Given the description of an element on the screen output the (x, y) to click on. 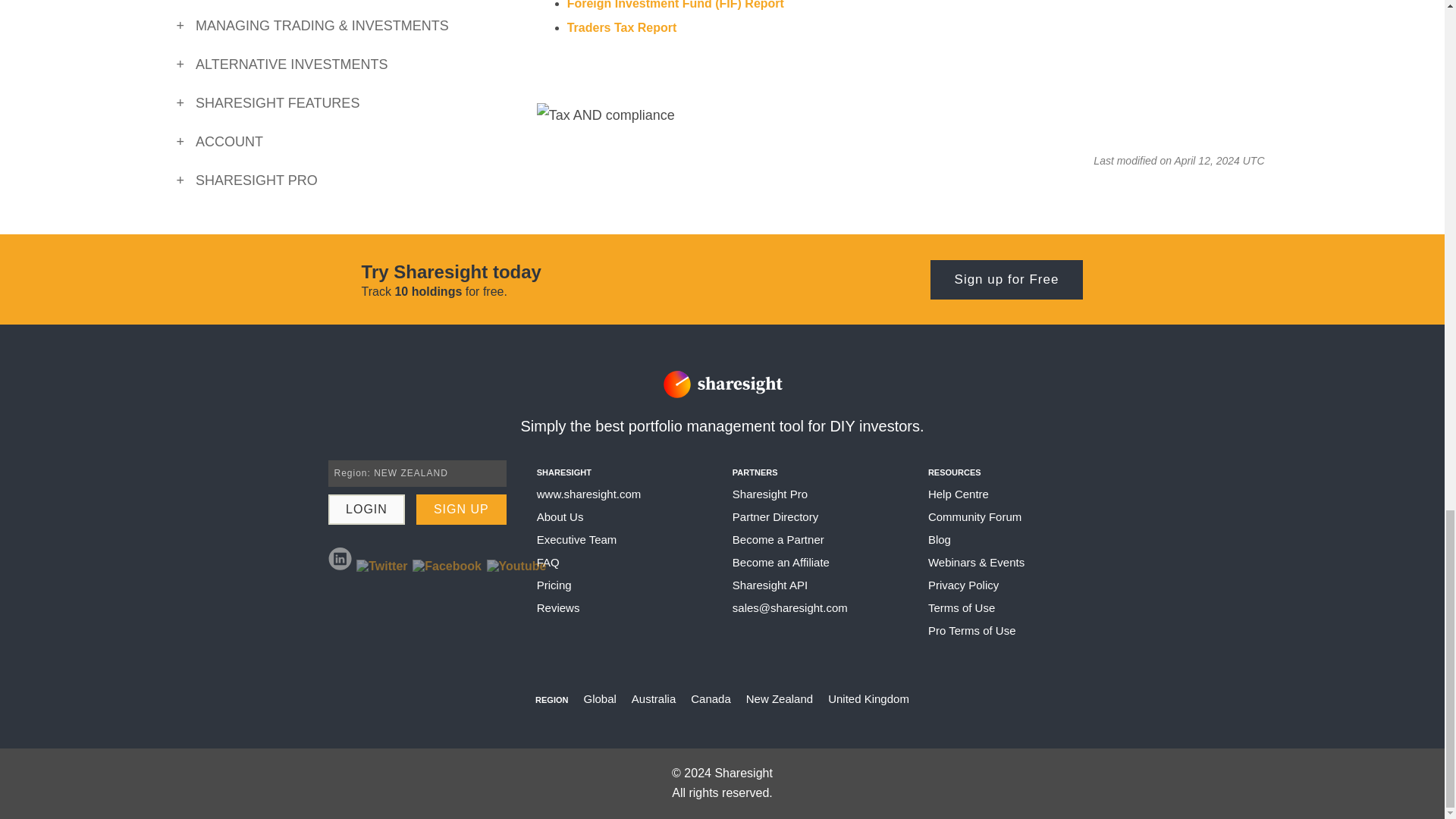
Sign up for Sharesight (461, 509)
Check us out on Facebook (446, 570)
Sharesight New Zealand Help (589, 493)
Check us out on LinkedIn (340, 558)
Login to Sharesight (366, 509)
Sign up for Sharesight (1006, 278)
Check us out on Youtube (516, 570)
Check us out on Twitter (381, 570)
